Given the description of an element on the screen output the (x, y) to click on. 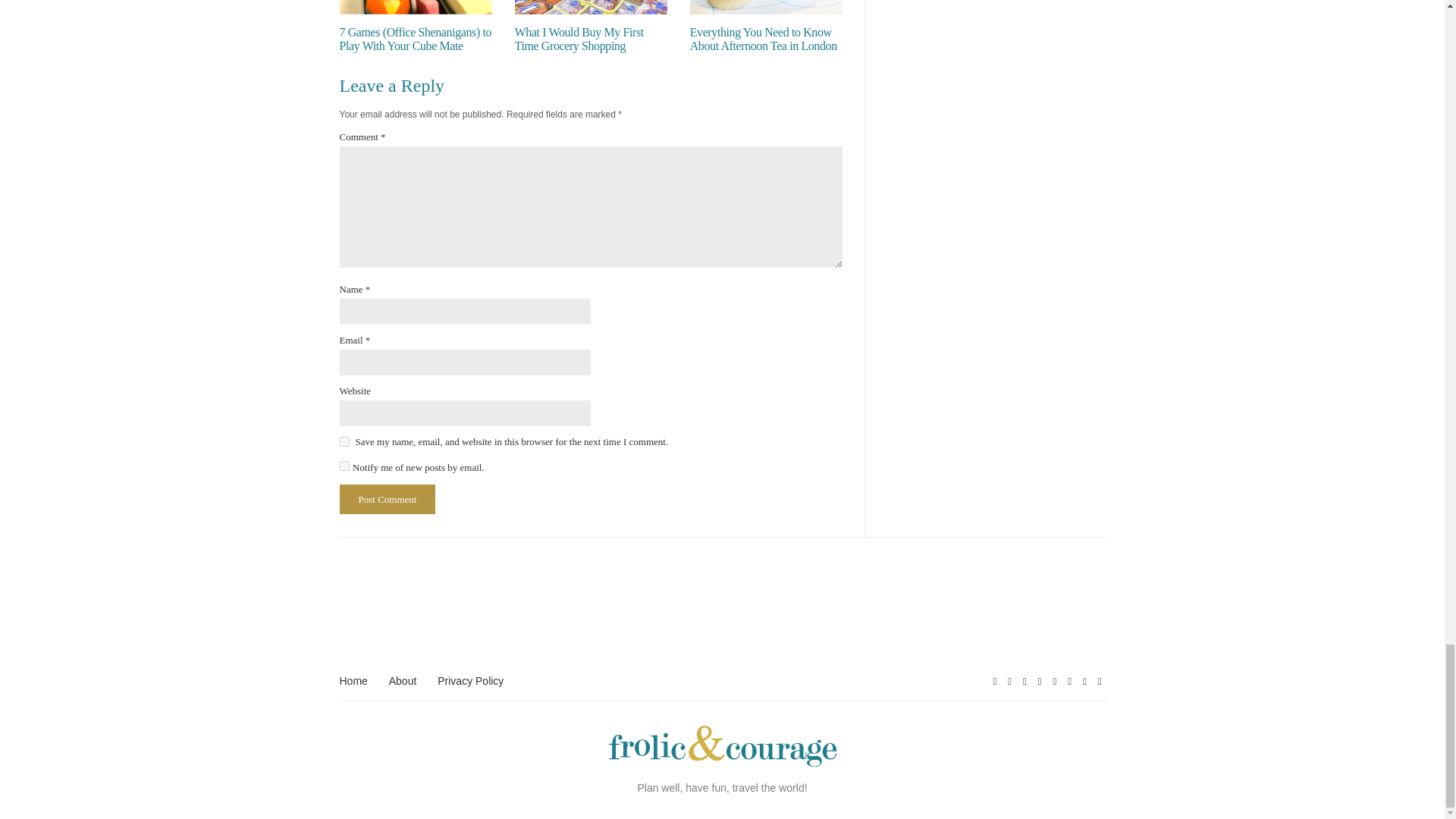
subscribe (344, 465)
yes (344, 441)
Post Comment (387, 499)
